Given the description of an element on the screen output the (x, y) to click on. 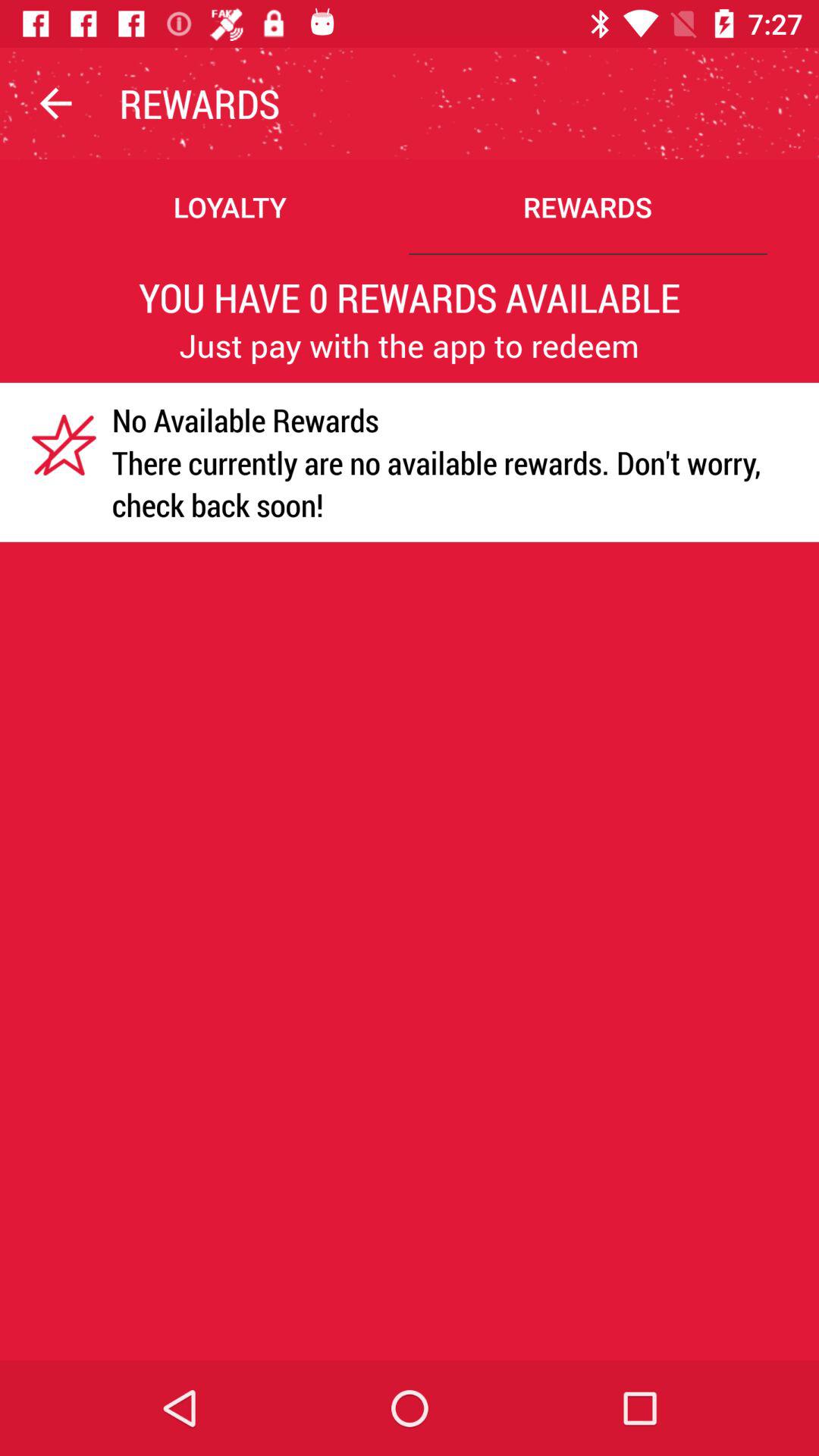
launch item next to the rewards item (55, 103)
